Given the description of an element on the screen output the (x, y) to click on. 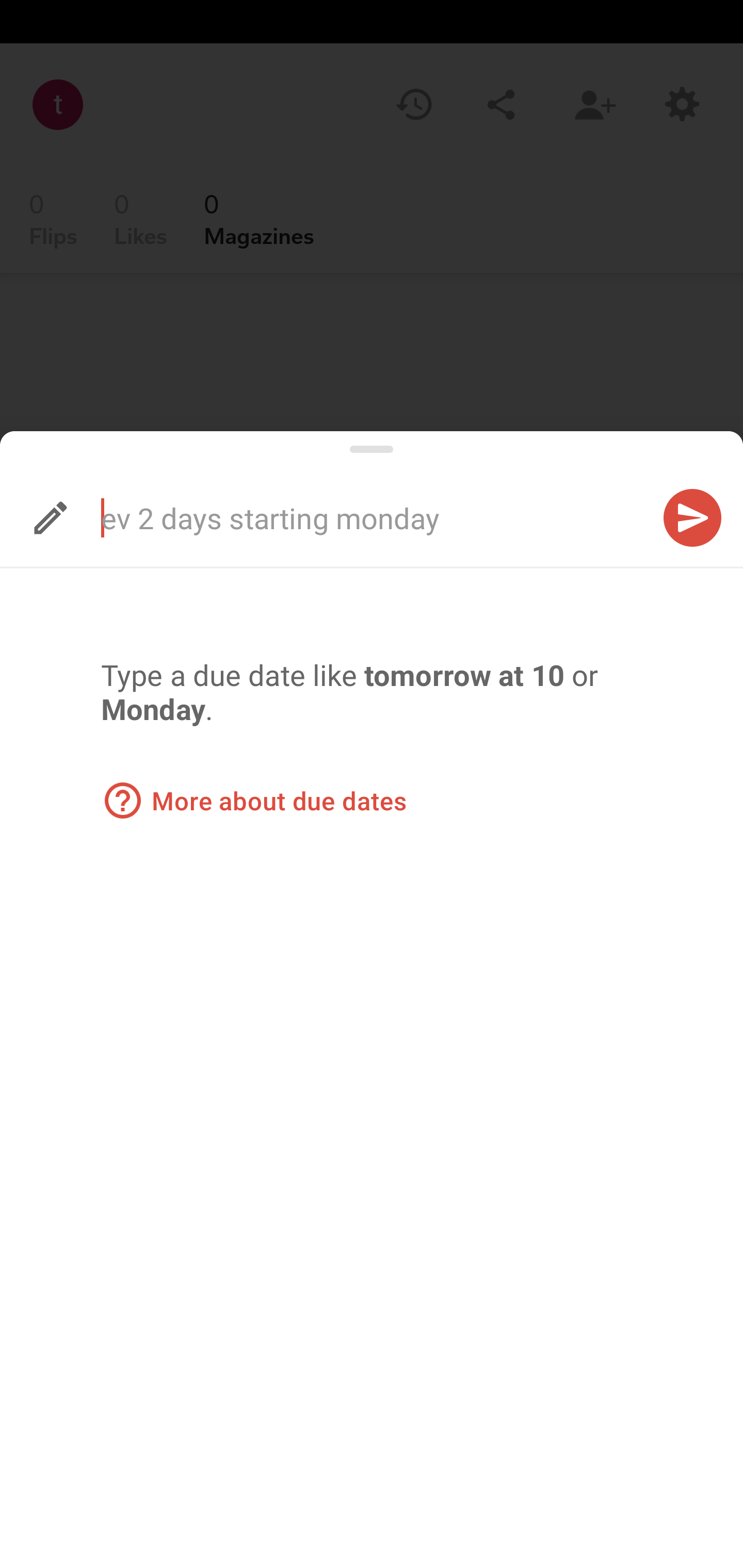
ev 2 days starting monday (334, 517)
Submit (692, 517)
More about due dates (253, 800)
